Given the description of an element on the screen output the (x, y) to click on. 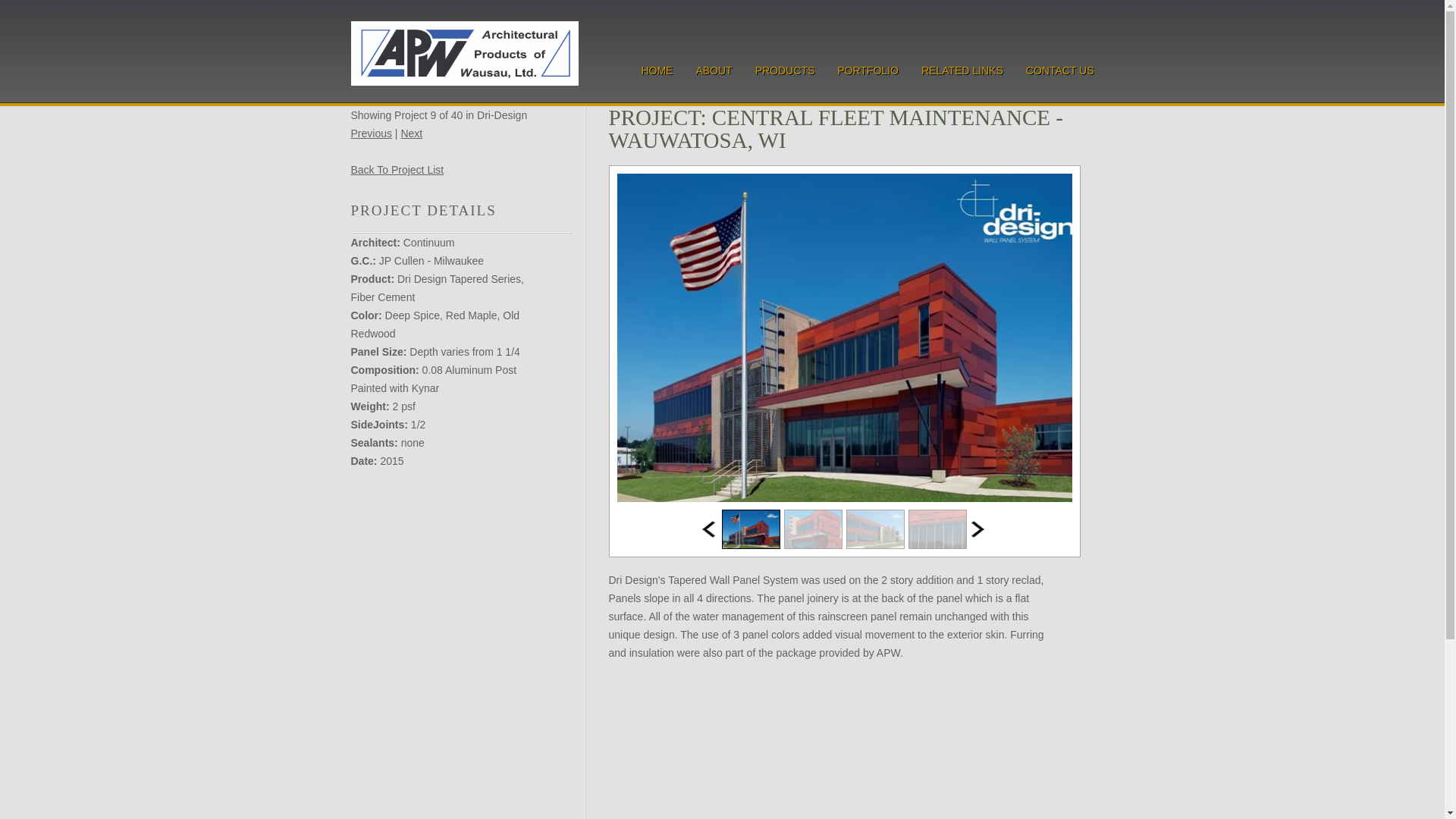
Next (411, 133)
HOME (656, 69)
ABOUT (713, 69)
RELATED LINKS (962, 69)
Back To Project List (397, 169)
CONTACT US (1060, 69)
PRODUCTS (785, 69)
PORTFOLIO (867, 69)
Previous (370, 133)
